Given the description of an element on the screen output the (x, y) to click on. 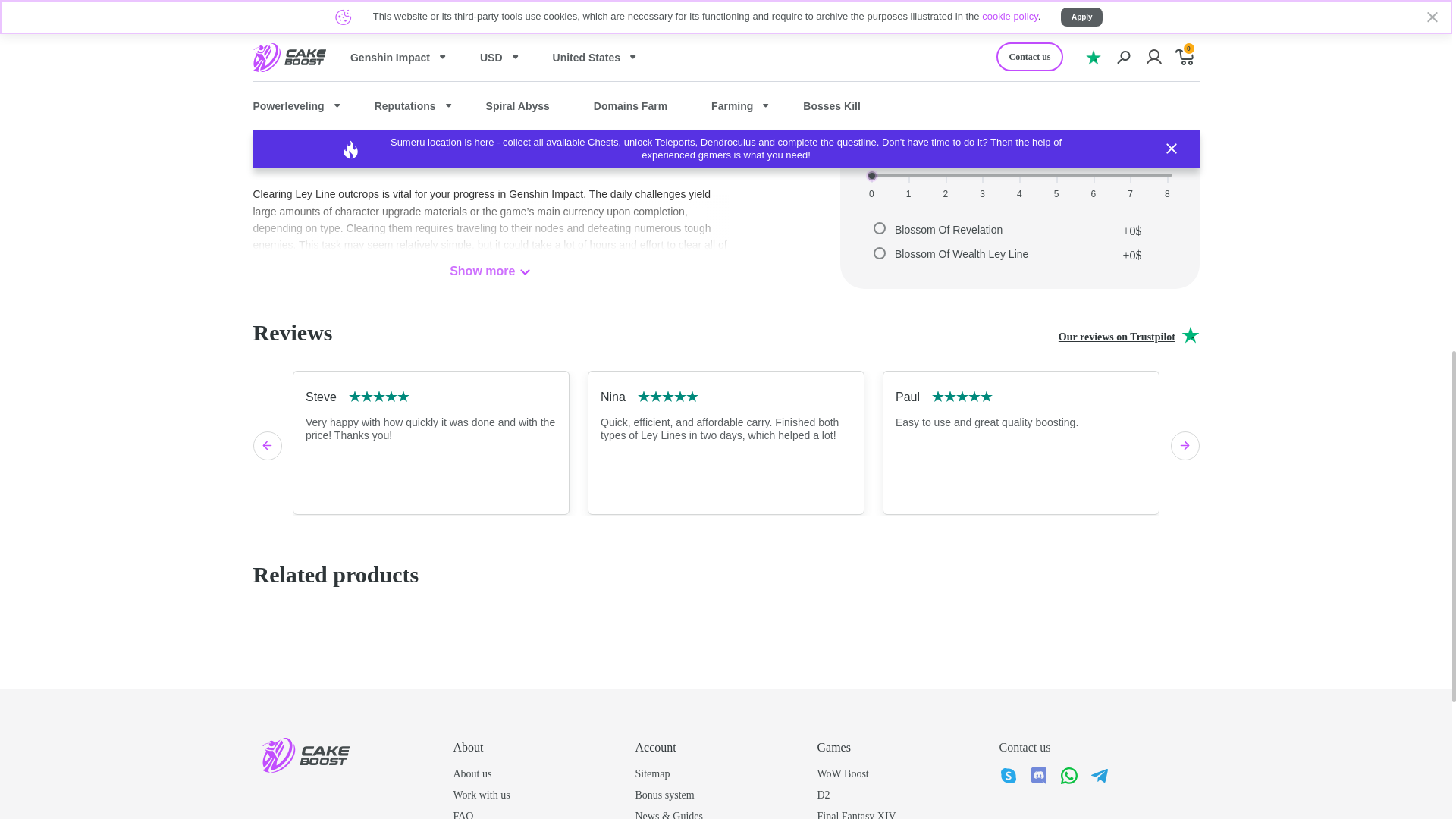
Show more (490, 271)
